Given the description of an element on the screen output the (x, y) to click on. 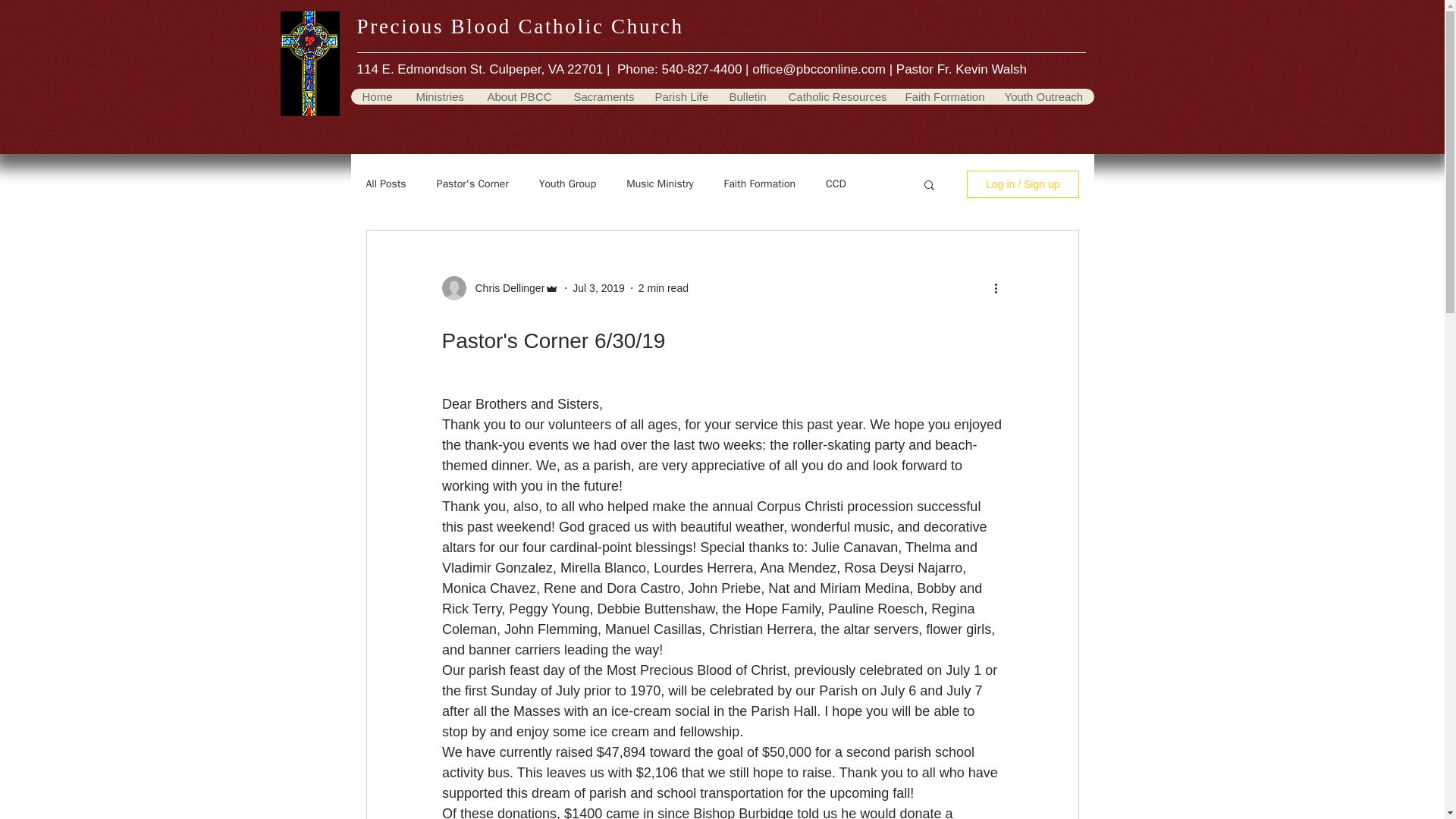
2 min read (663, 287)
All Posts (385, 183)
Pastor's Corner (472, 183)
Jul 3, 2019 (598, 287)
Home (376, 96)
Youth Group (566, 183)
Chris Dellinger (504, 288)
